Given the description of an element on the screen output the (x, y) to click on. 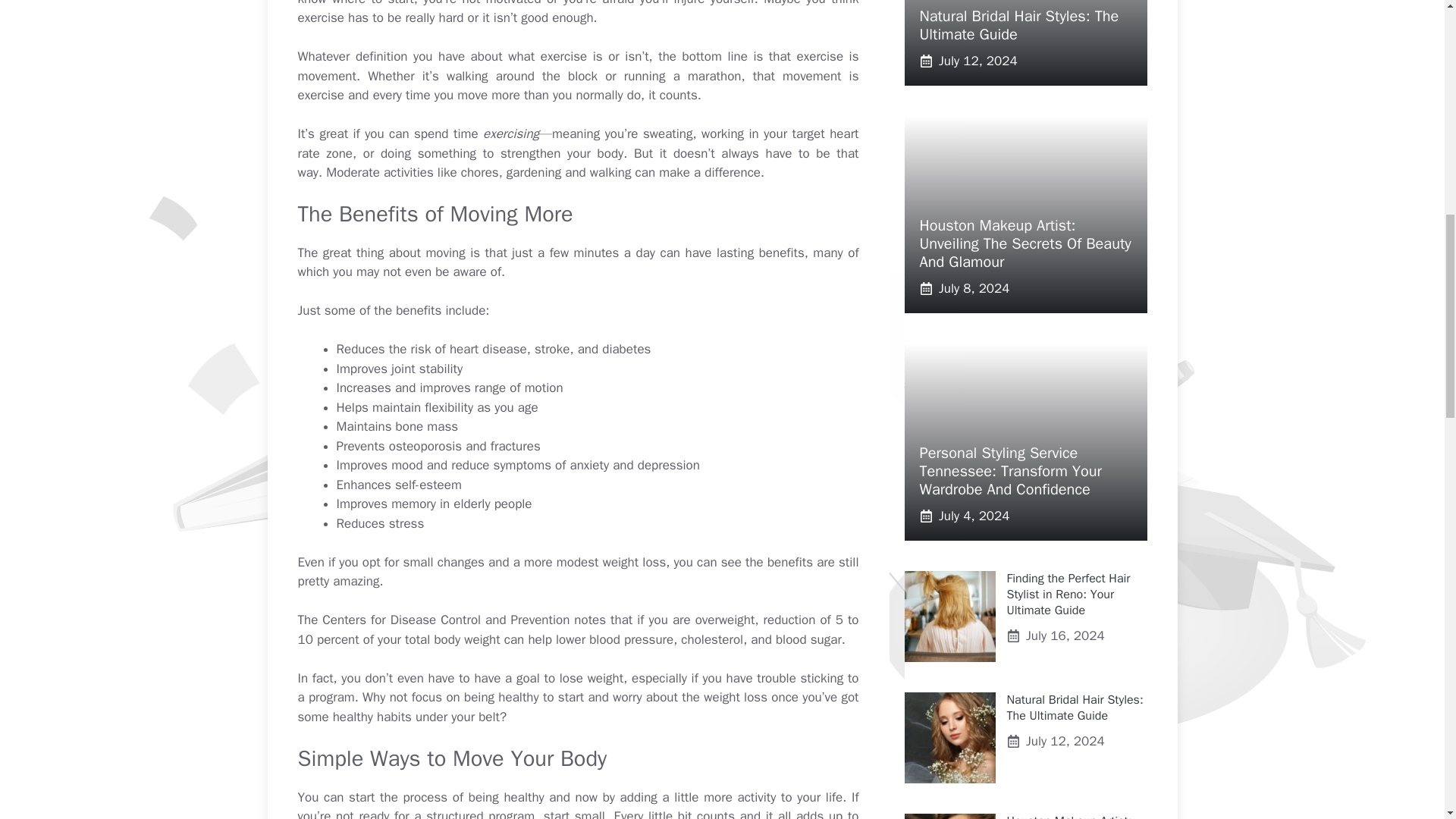
Scroll back to top (1406, 720)
healthy habits (372, 716)
strengthen your body (561, 153)
not motivated (502, 3)
Natural Bridal Hair Styles: The Ultimate Guide (1018, 25)
Moderate (353, 172)
target heart rate zone (578, 143)
